Given the description of an element on the screen output the (x, y) to click on. 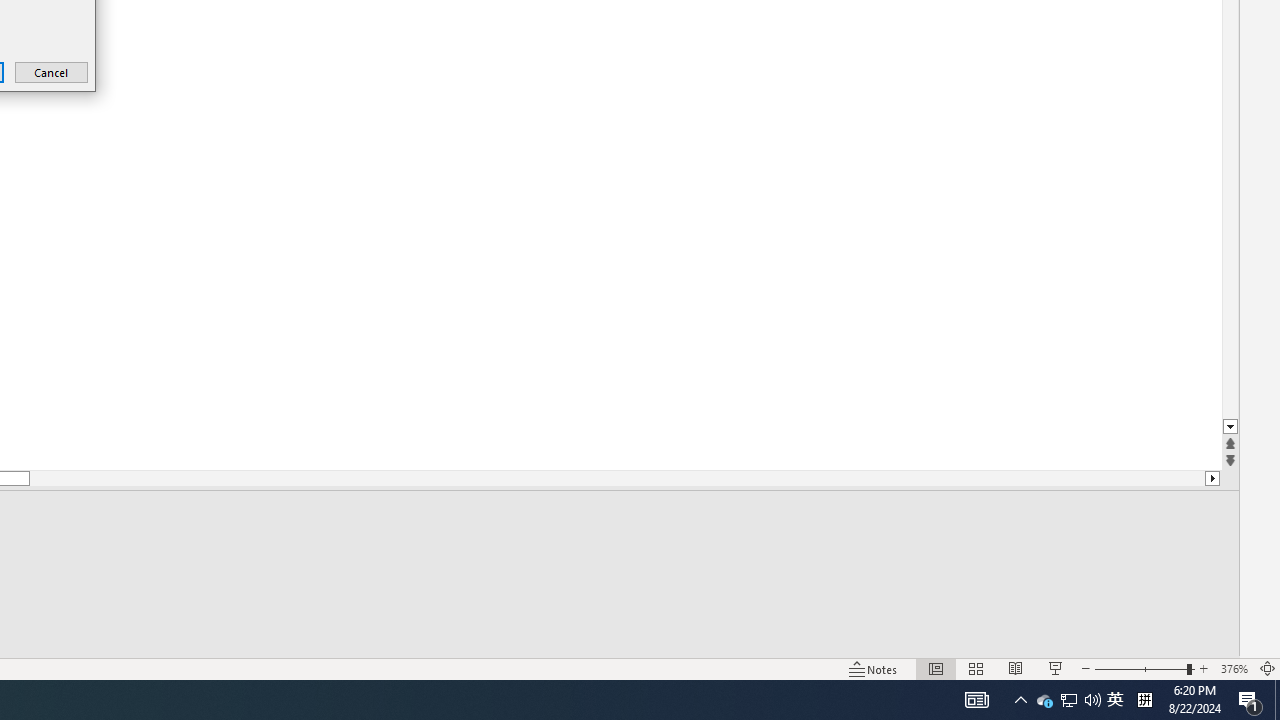
Action Center, 1 new notification (1044, 699)
Show desktop (1250, 699)
Notification Chevron (1115, 699)
Cancel (1277, 699)
Q2790: 100% (1020, 699)
AutomationID: 4105 (51, 72)
